Given the description of an element on the screen output the (x, y) to click on. 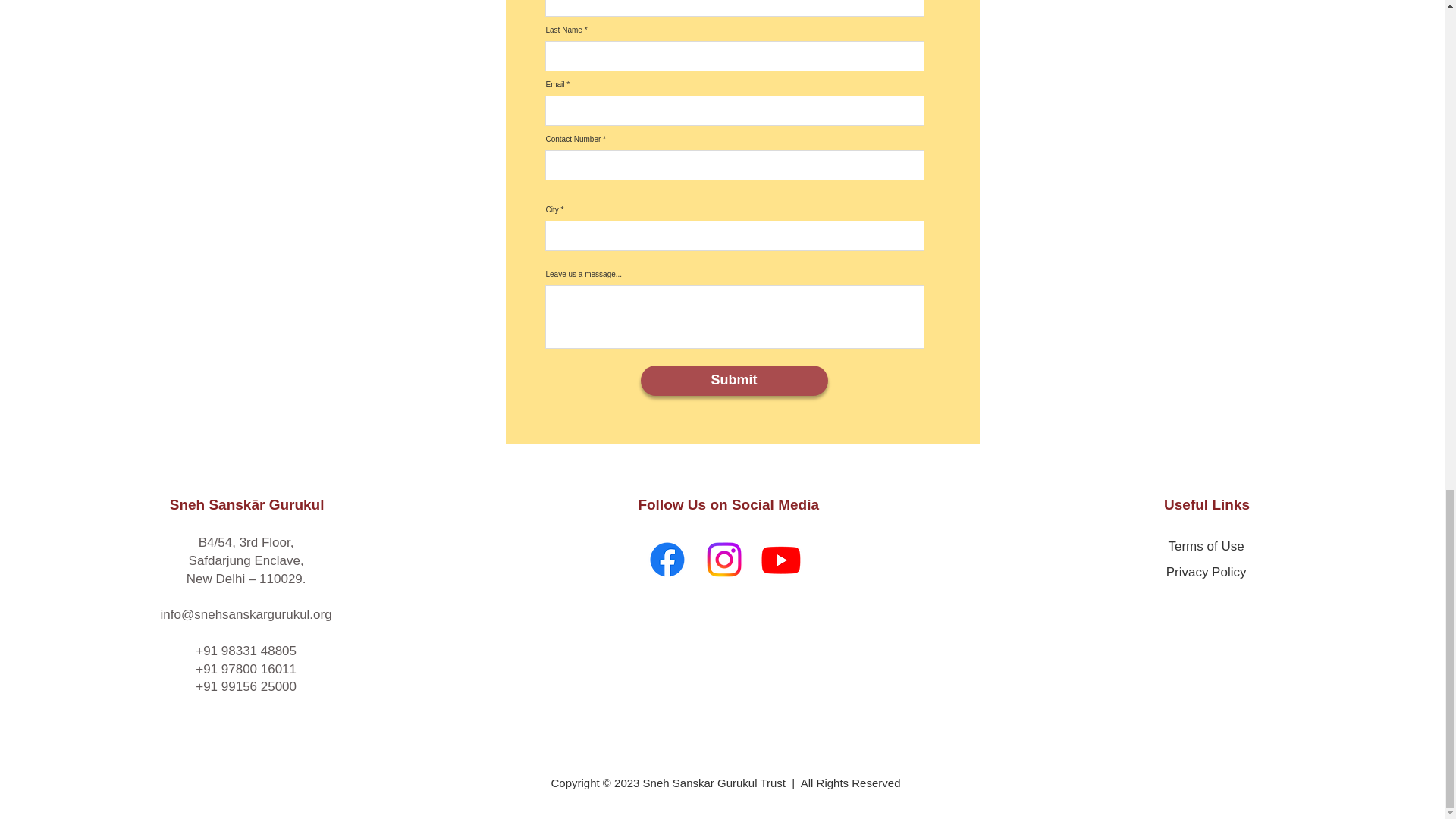
Privacy Policy (1206, 572)
Terms of Use (1205, 545)
Submit (733, 380)
